Given the description of an element on the screen output the (x, y) to click on. 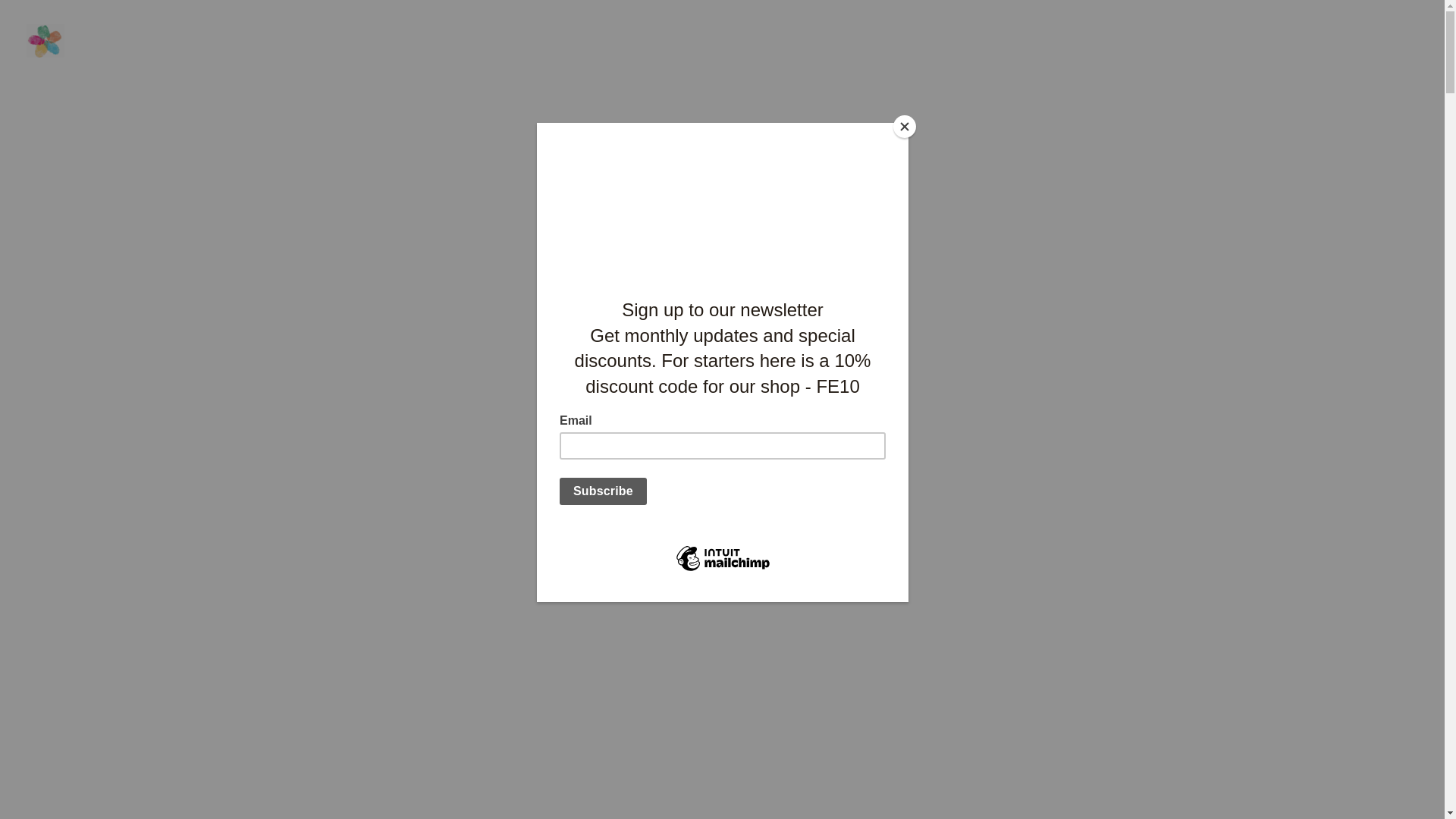
GROUPS (840, 36)
CONSULTANCY (1095, 36)
About Us (674, 36)
SHOP (1166, 36)
CONTACT US (1370, 36)
BLOG (1299, 36)
SHORT TRIPS (759, 36)
RESOURCES (1233, 36)
CAREERS (1008, 36)
ABOUT US (674, 36)
VOLUNTEER (923, 36)
